Given the description of an element on the screen output the (x, y) to click on. 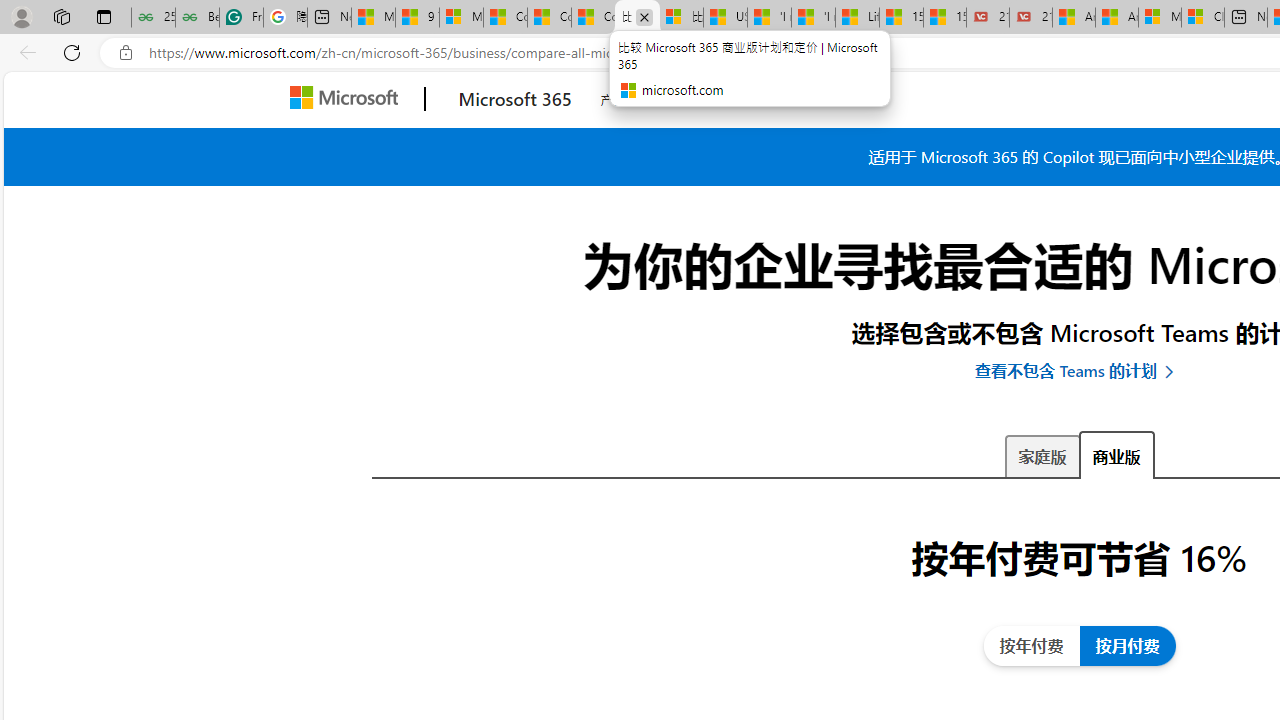
25 Basic Linux Commands For Beginners - GeeksforGeeks (153, 17)
